Given the description of an element on the screen output the (x, y) to click on. 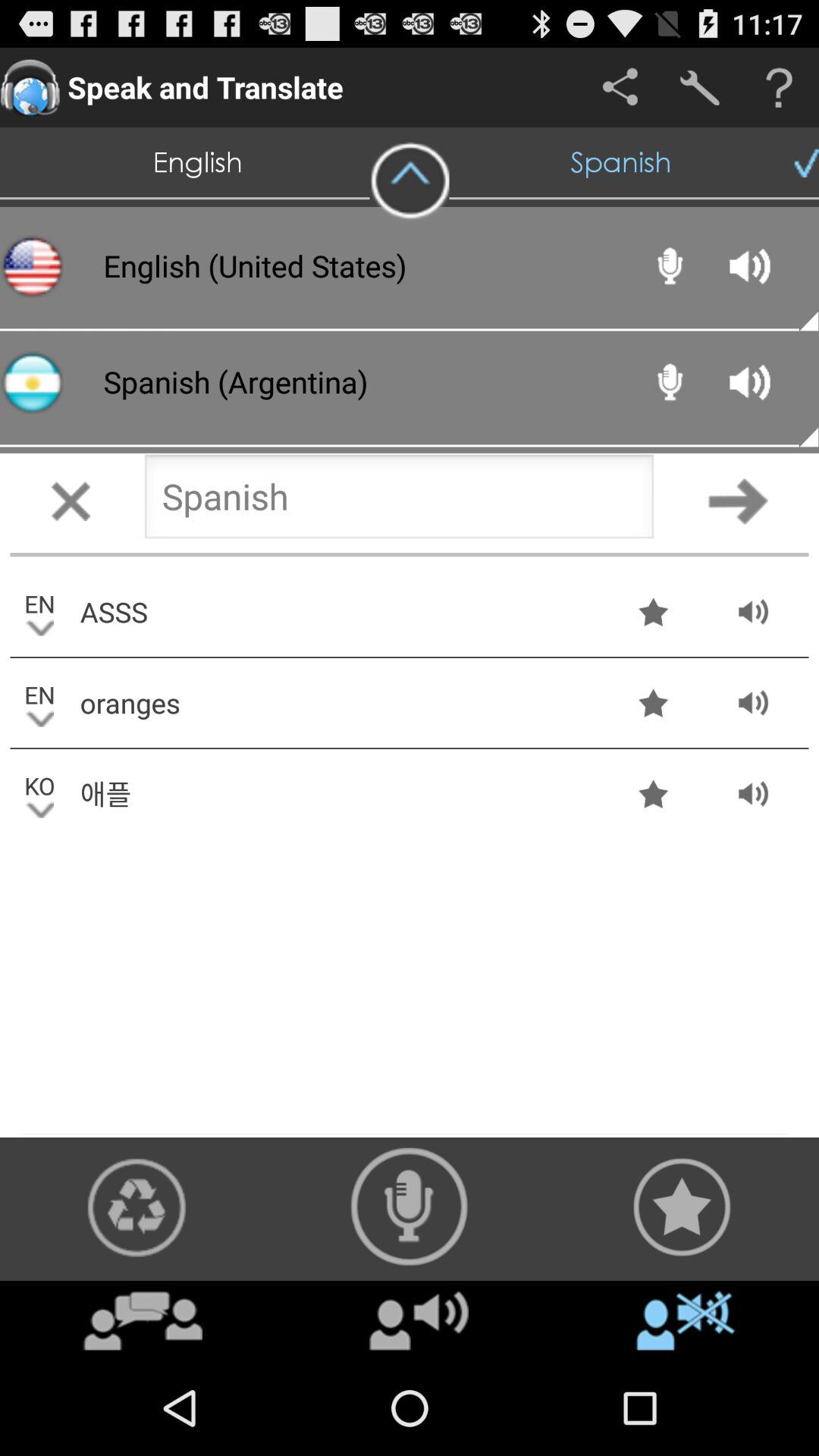
recycle icon (136, 1206)
